Given the description of an element on the screen output the (x, y) to click on. 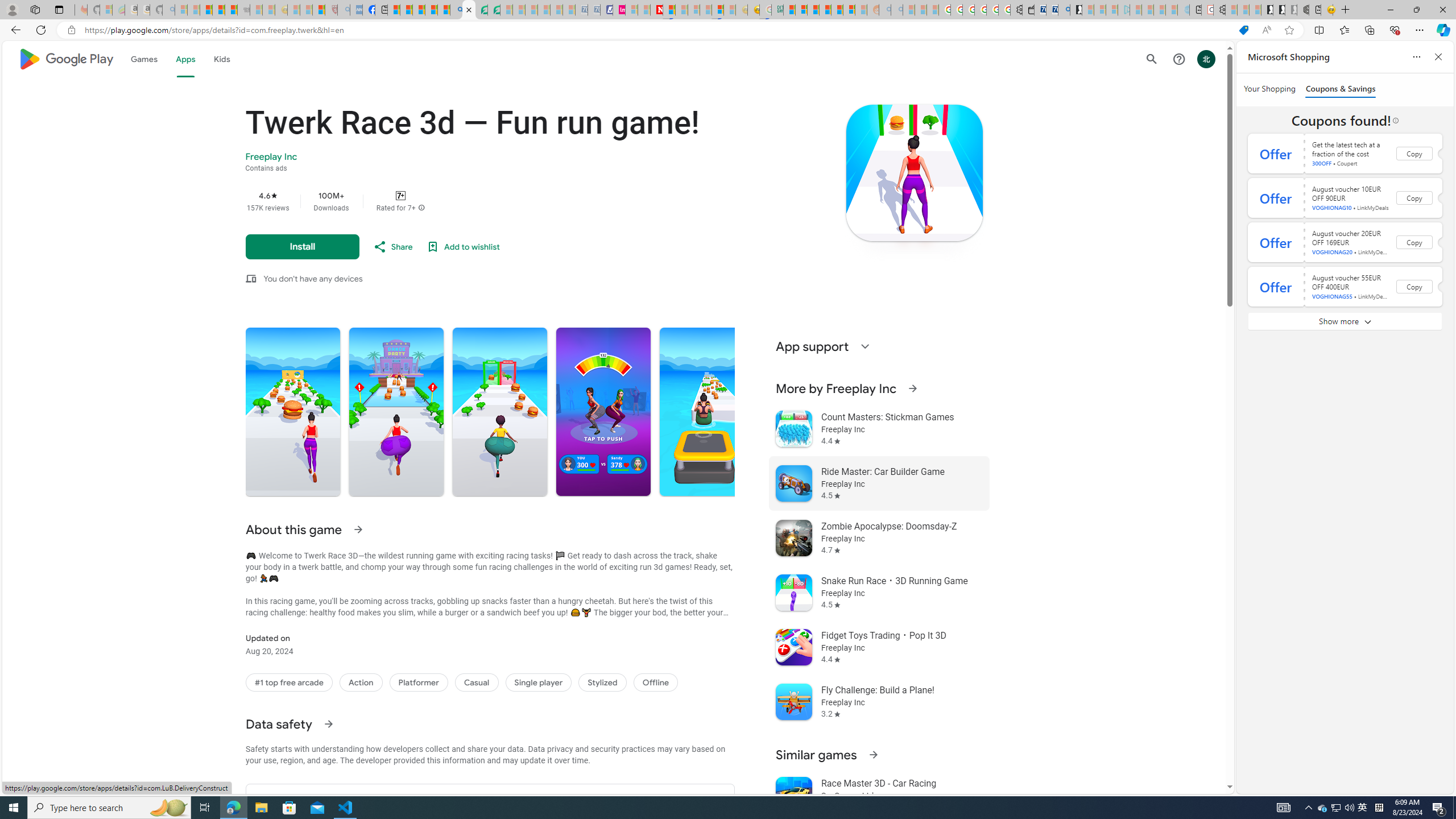
Microsoft-Report a Concern to Bing - Sleeping (105, 9)
The Weather Channel - MSN (205, 9)
See more information on Similar games (872, 754)
Cheap Car Rentals - Save70.com (1051, 9)
You don't have any devices (312, 278)
Search (1151, 58)
Class: ULeU3b Utde2e (706, 412)
Personal Profile (12, 9)
Single player (538, 682)
Nordace - Nordace Siena Is Not An Ordinary Backpack (1302, 9)
Microsoft account | Privacy - Sleeping (1111, 9)
Offline (655, 682)
New Tab (1346, 9)
